Given the description of an element on the screen output the (x, y) to click on. 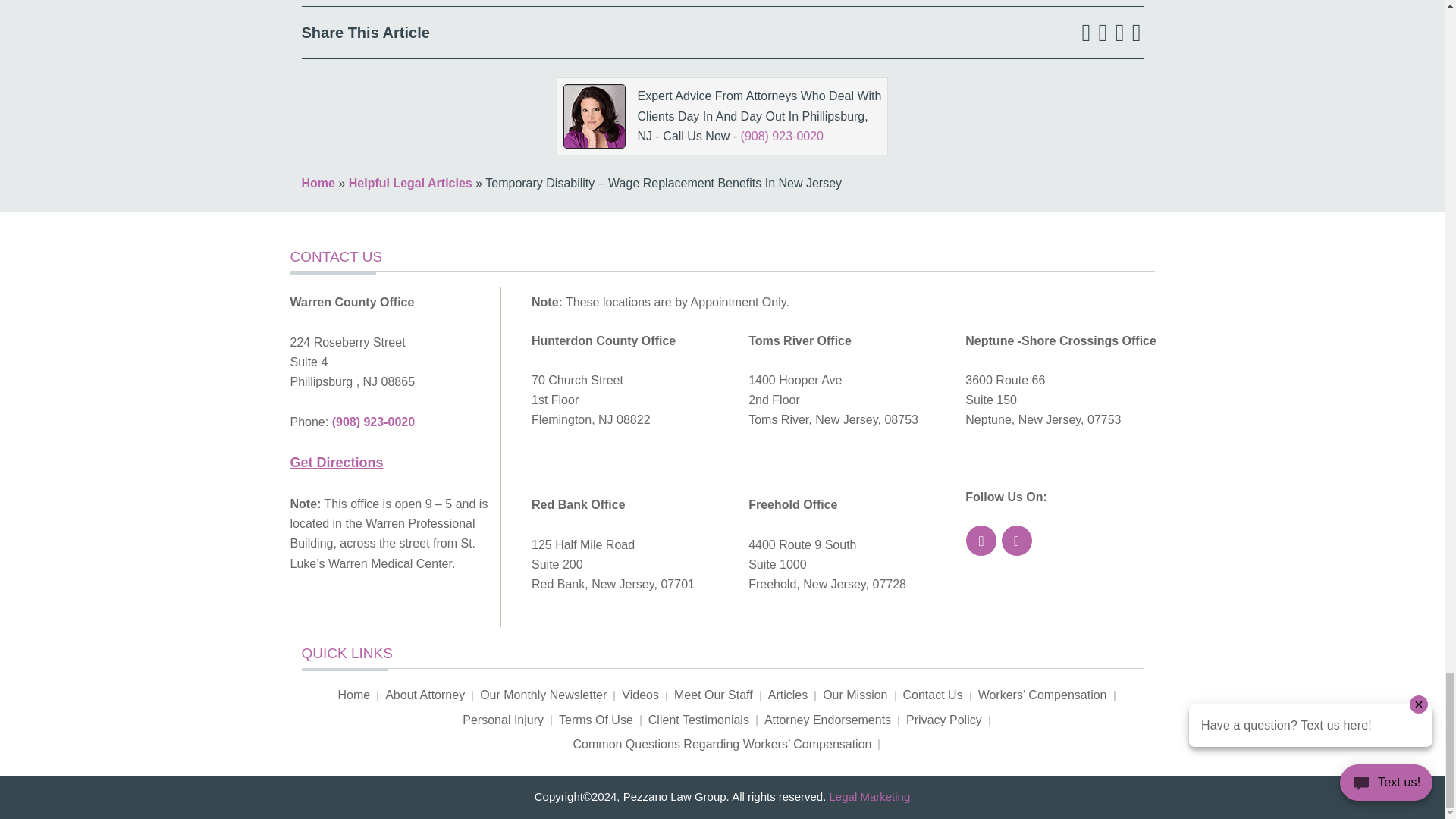
Twitter (1102, 31)
E-Mail (1135, 31)
LinkedIn (1119, 31)
Facebook (1085, 31)
